Given the description of an element on the screen output the (x, y) to click on. 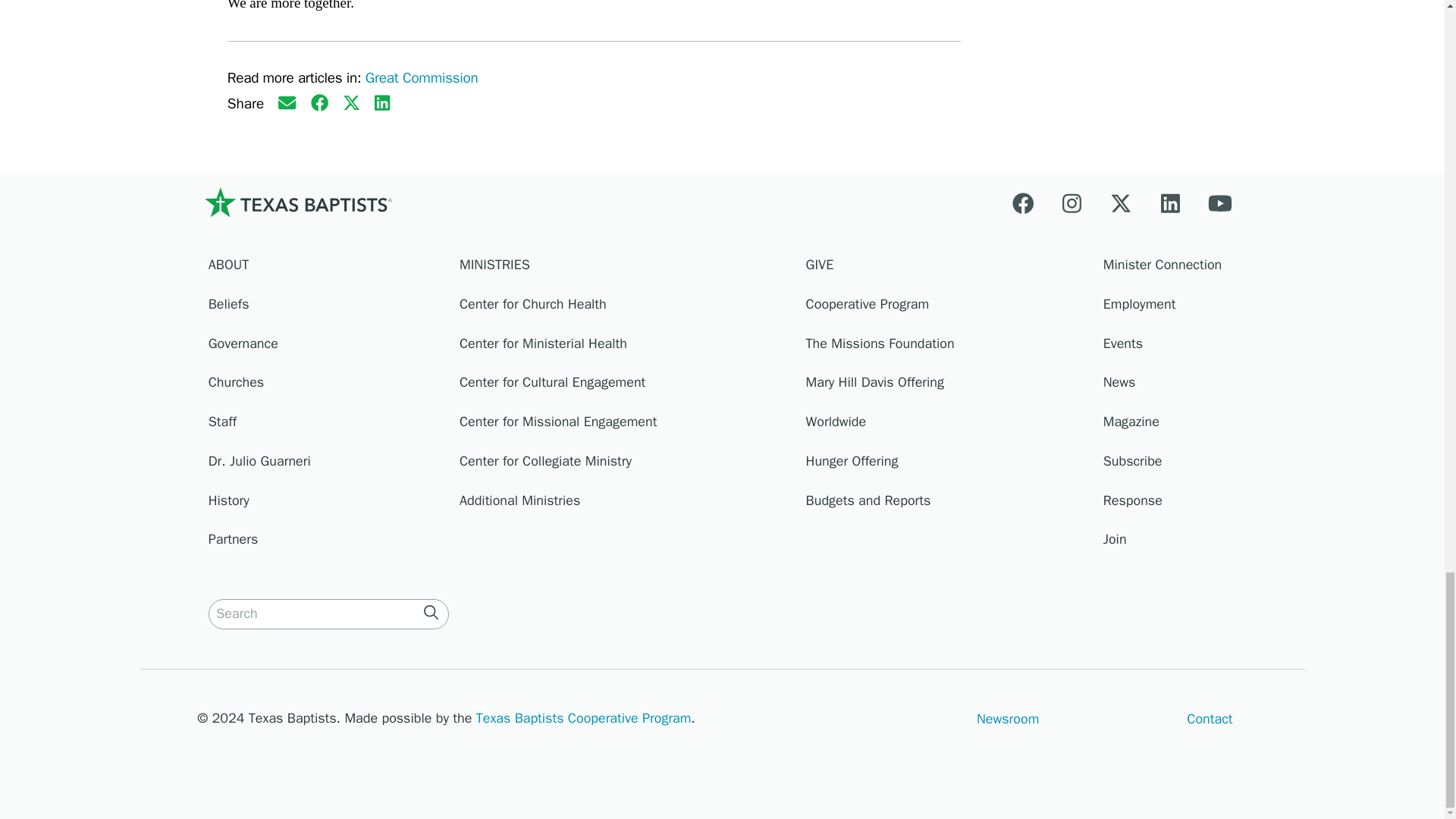
Governance (326, 346)
Great Commission (422, 77)
Beliefs (326, 308)
Home (297, 201)
ABOUT (326, 269)
Churches (326, 386)
